Given the description of an element on the screen output the (x, y) to click on. 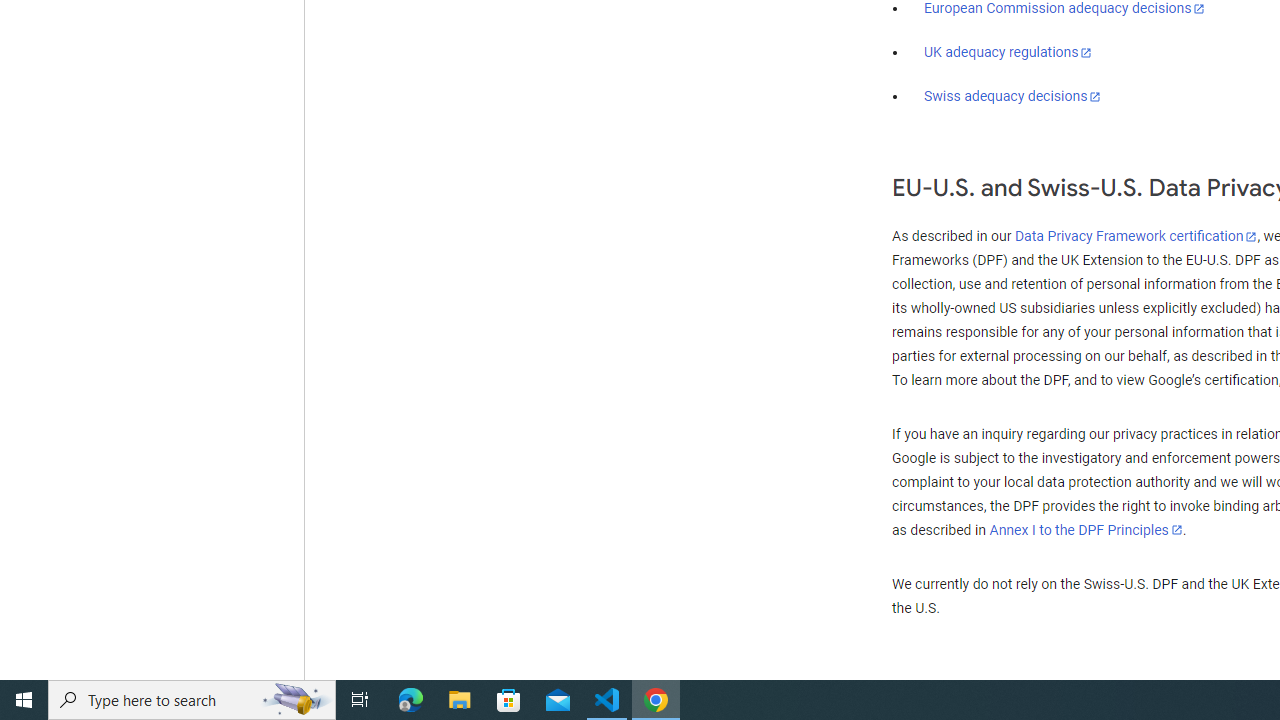
UK adequacy regulations (1008, 52)
Swiss adequacy decisions (1013, 96)
Data Privacy Framework certification (1135, 237)
European Commission adequacy decisions (1064, 9)
Annex I to the DPF Principles (1085, 530)
